Given the description of an element on the screen output the (x, y) to click on. 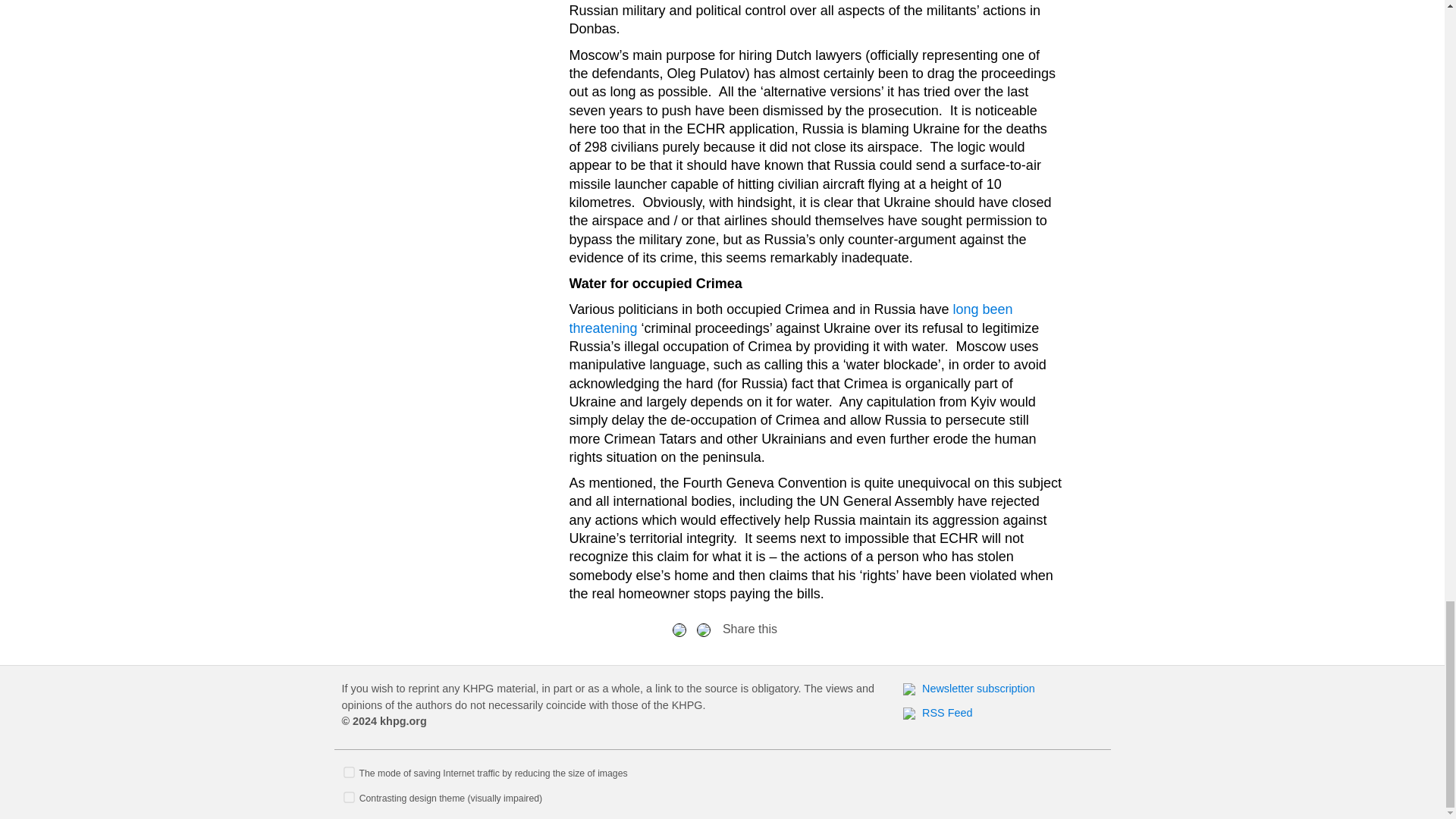
1 (348, 796)
Twitter (703, 628)
Facebook (678, 628)
1 (348, 771)
